Given the description of an element on the screen output the (x, y) to click on. 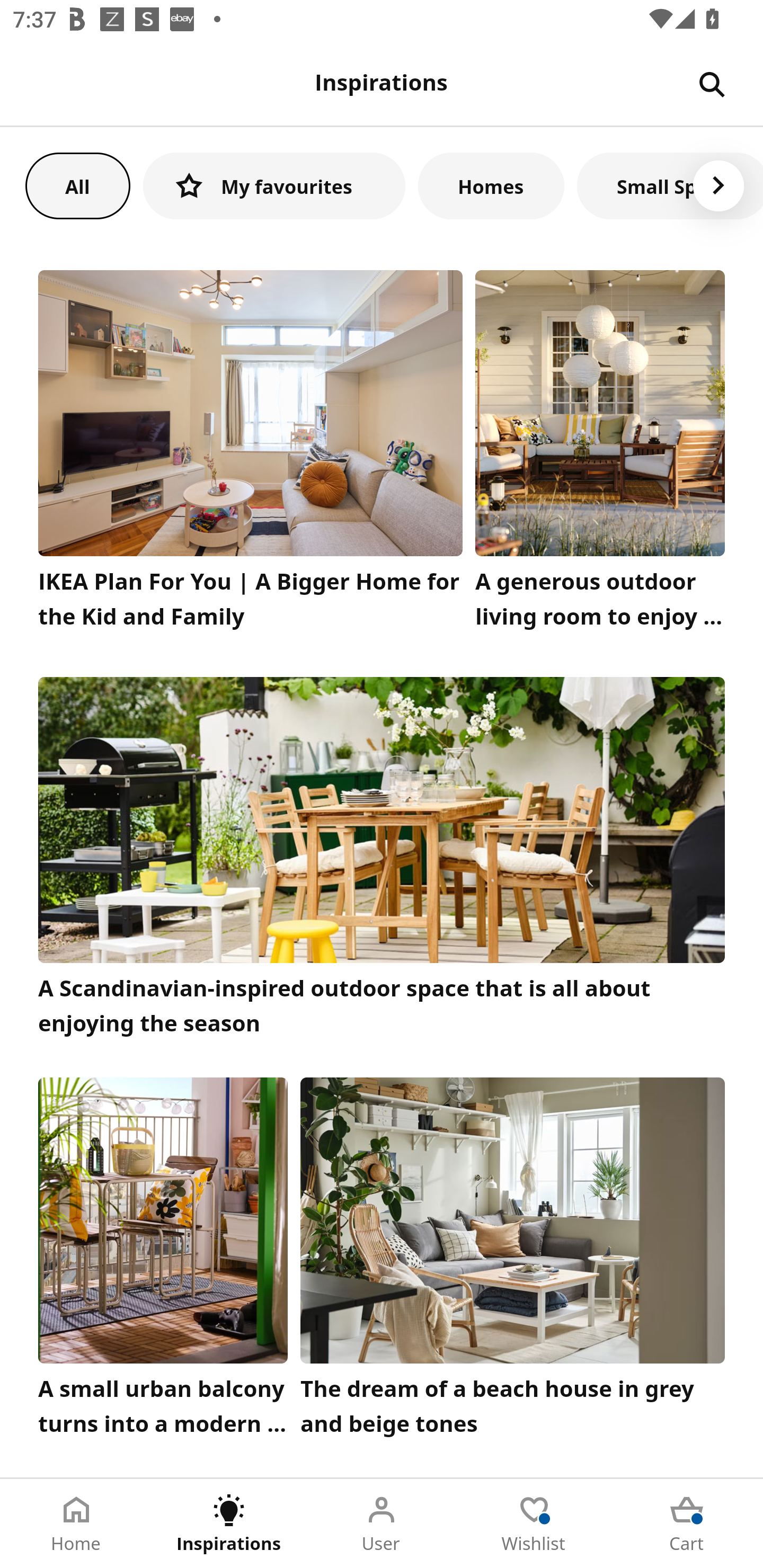
All (77, 185)
My favourites (274, 185)
Homes (491, 185)
The dream of a beach house in grey and beige tones (512, 1261)
Home
Tab 1 of 5 (76, 1522)
Inspirations
Tab 2 of 5 (228, 1522)
User
Tab 3 of 5 (381, 1522)
Wishlist
Tab 4 of 5 (533, 1522)
Cart
Tab 5 of 5 (686, 1522)
